Given the description of an element on the screen output the (x, y) to click on. 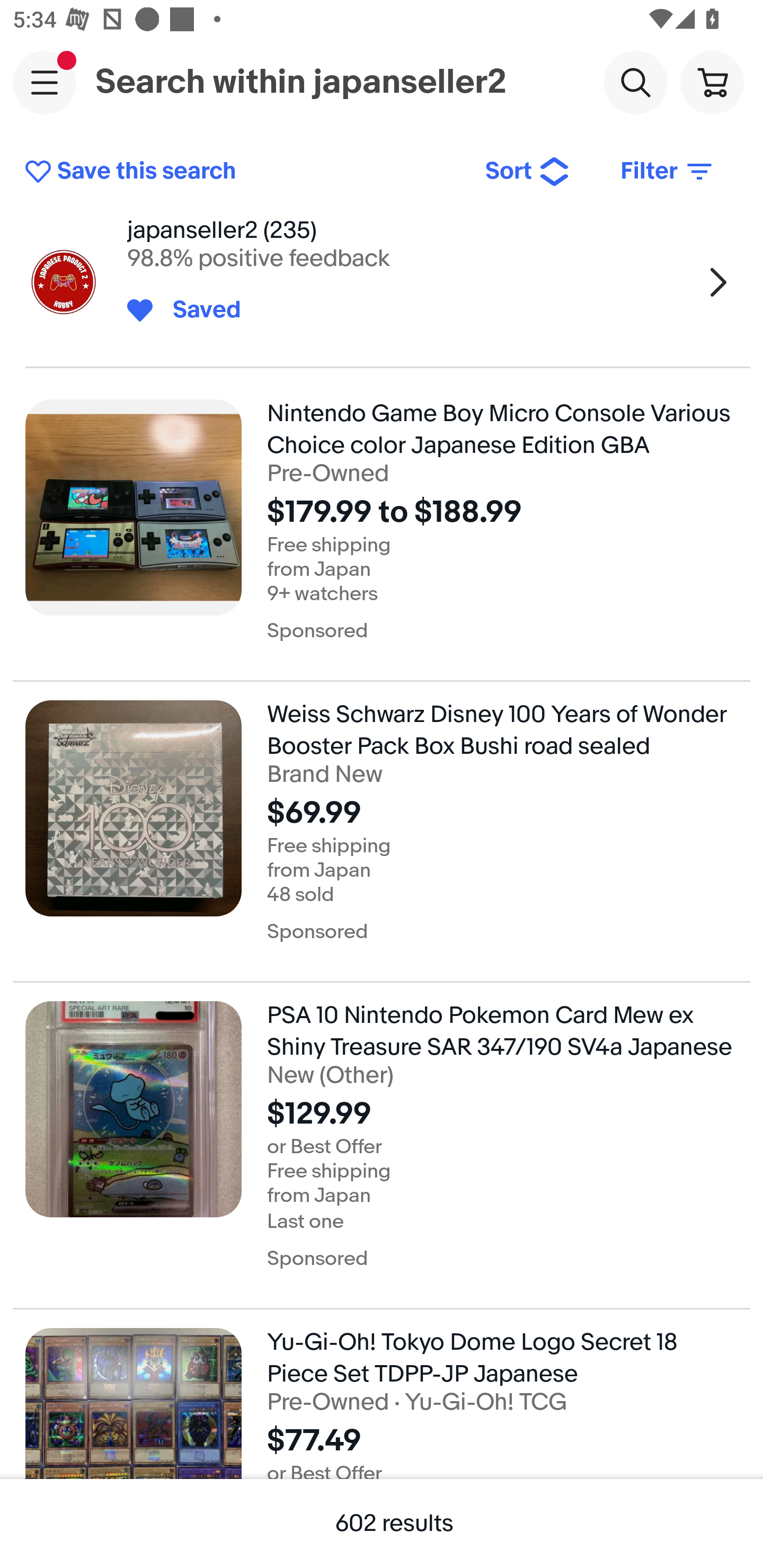
Main navigation, notification is pending, open (44, 82)
Search (635, 81)
Cart button shopping cart (711, 81)
Save this search (241, 171)
Sort (527, 171)
Filter (667, 171)
japanseller2 (235) 98.8% positive feedback Saved (381, 282)
Saved (197, 310)
